Given the description of an element on the screen output the (x, y) to click on. 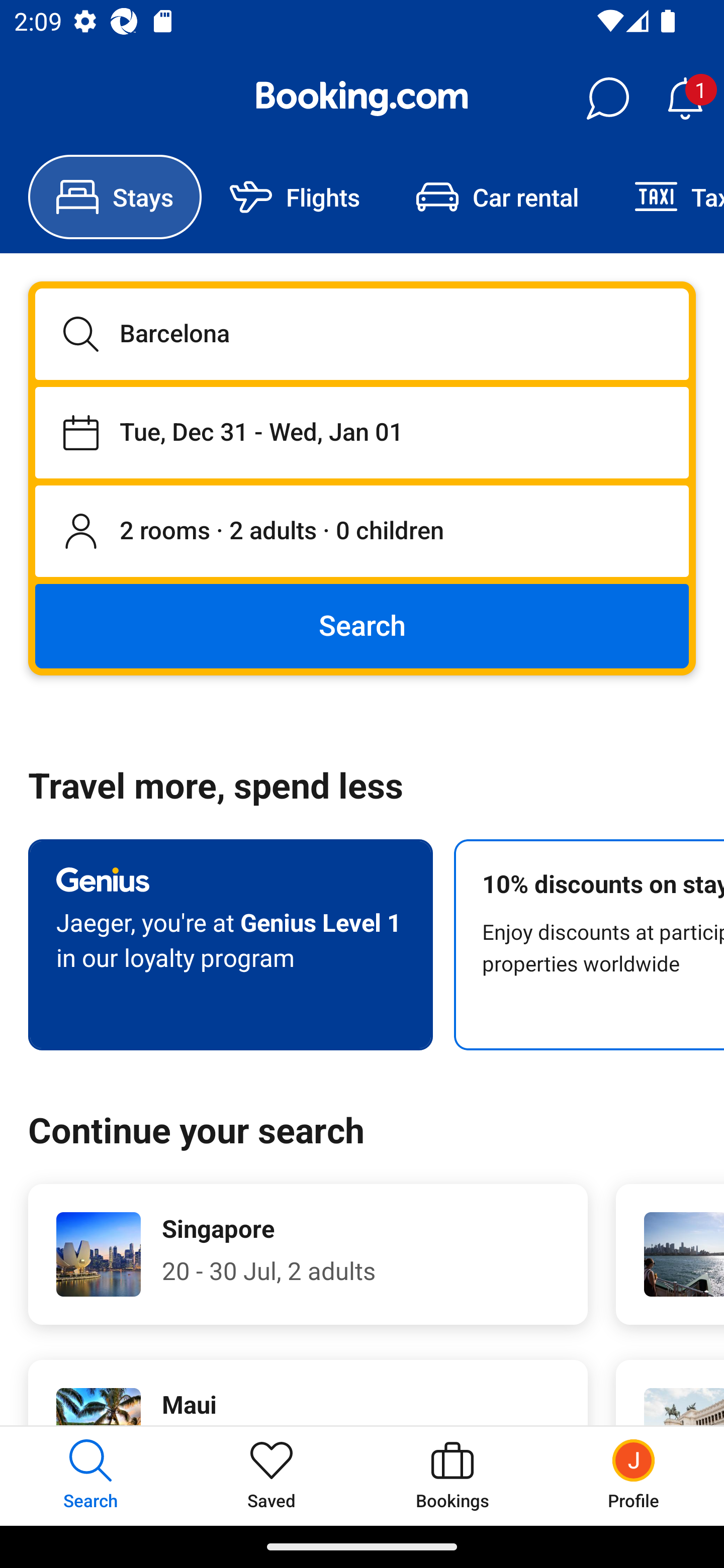
Messages (607, 98)
Notifications (685, 98)
Stays (114, 197)
Flights (294, 197)
Car rental (497, 197)
Taxi (665, 197)
Barcelona (361, 333)
Staying from Tue, Dec 31 until Wed, Jan 01 (361, 432)
2 rooms, 2 adults, 0 children (361, 531)
Search (361, 625)
Singapore 20 - 30 Jul, 2 adults (307, 1253)
Saved (271, 1475)
Bookings (452, 1475)
Profile (633, 1475)
